Given the description of an element on the screen output the (x, y) to click on. 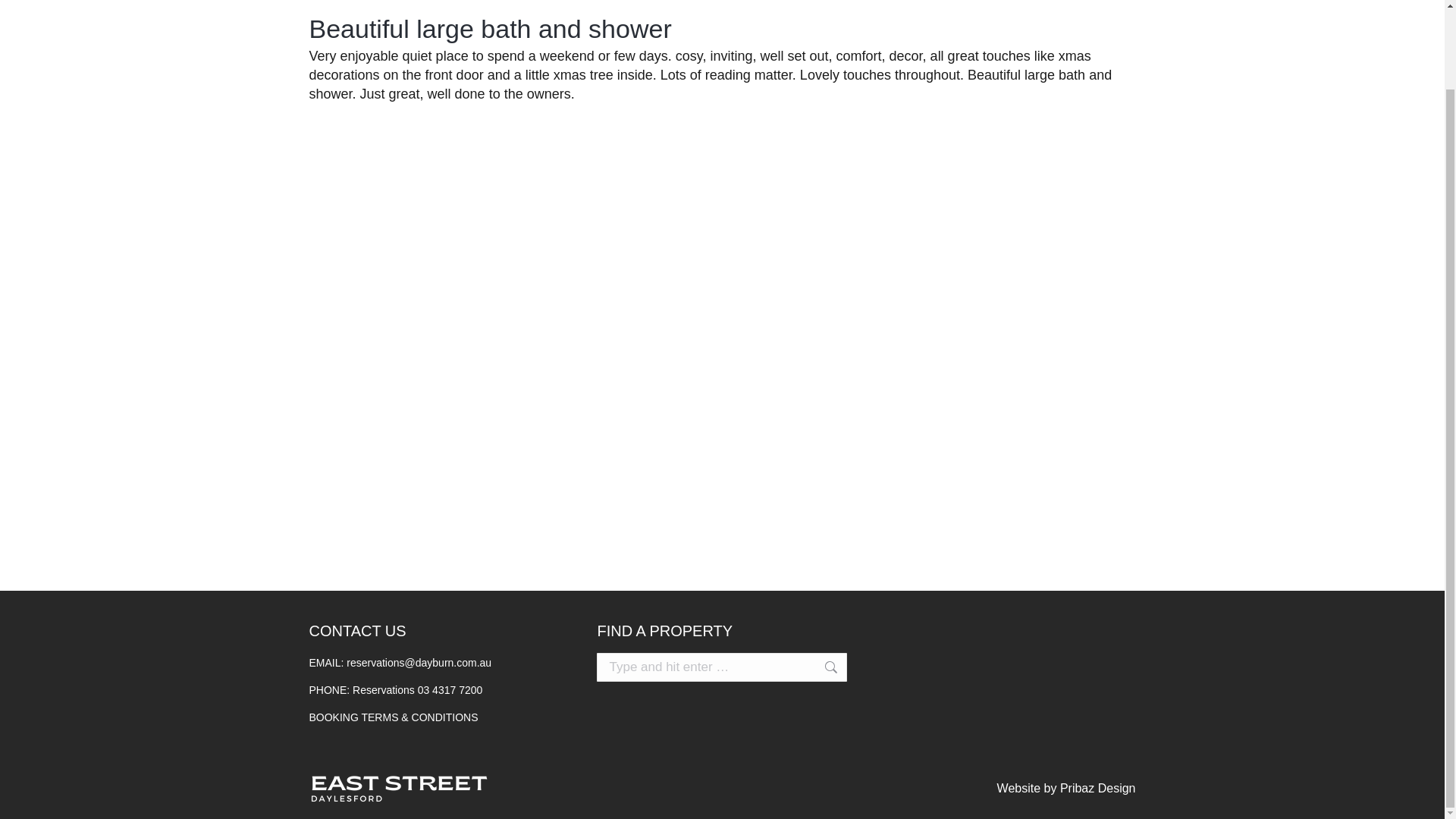
Go! (823, 578)
Pribaz Design (1097, 698)
Go! (823, 578)
Go! (823, 578)
